Given the description of an element on the screen output the (x, y) to click on. 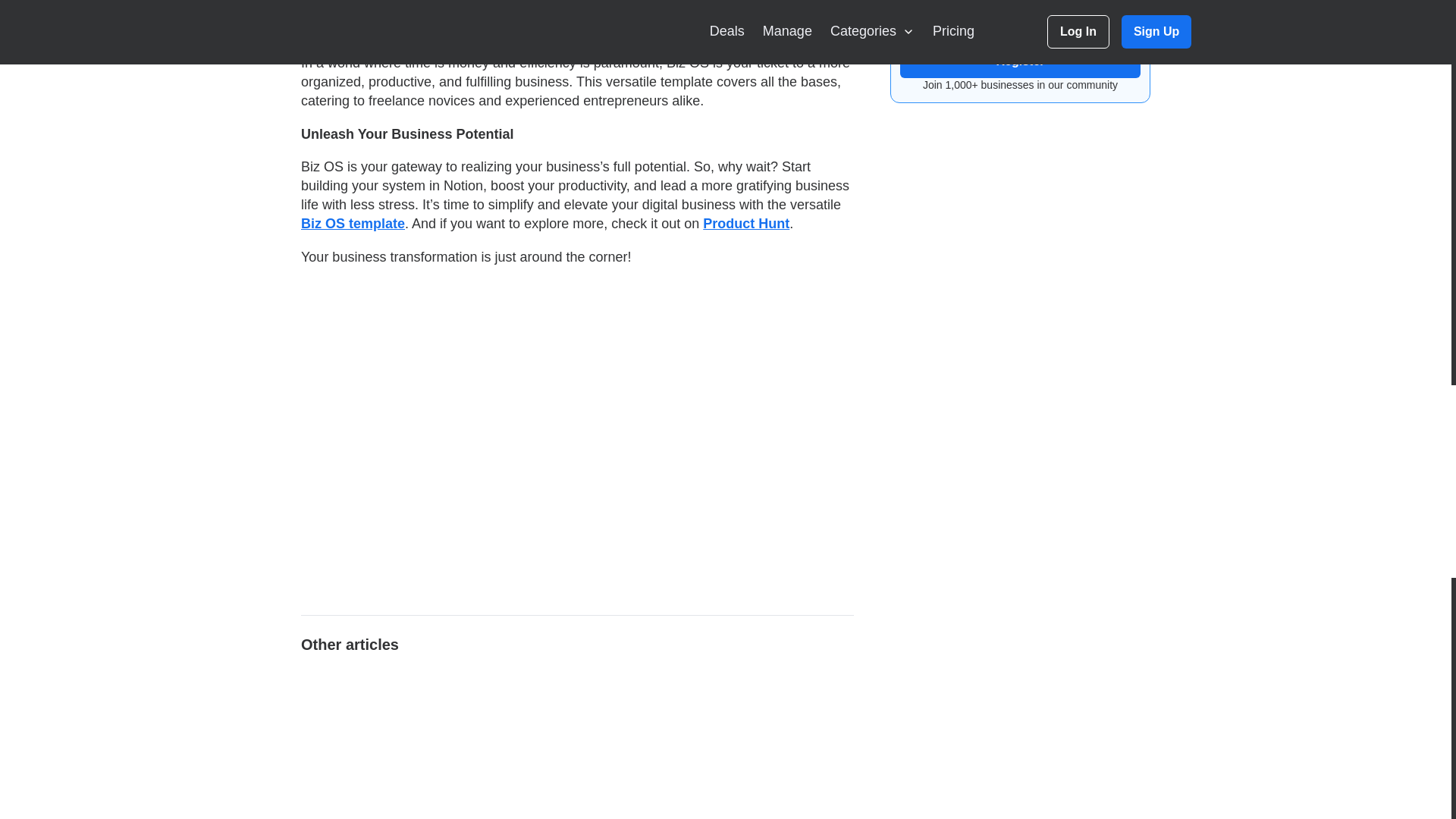
How to Strikethrough Text in Slack (718, 743)
